Given the description of an element on the screen output the (x, y) to click on. 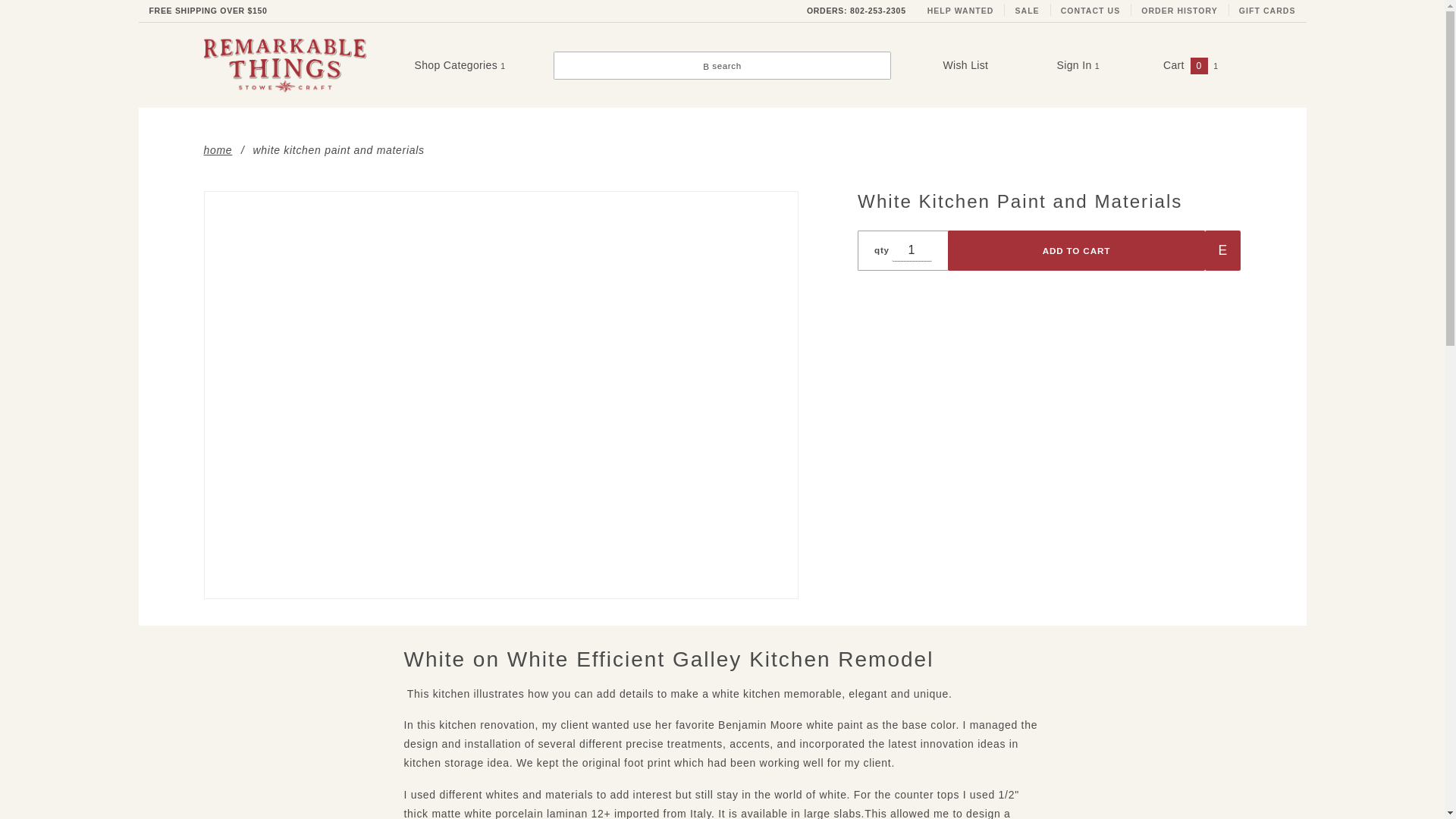
SEARCH (1164, 22)
White Kitchen Paint and Materials (500, 394)
Wish List (965, 64)
Sign In (1133, 115)
1 (911, 250)
SALE (1026, 11)
Help Wanted (960, 11)
Order History (1179, 11)
GIFT CARDS (1267, 11)
CONTACT US (1090, 11)
